Given the description of an element on the screen output the (x, y) to click on. 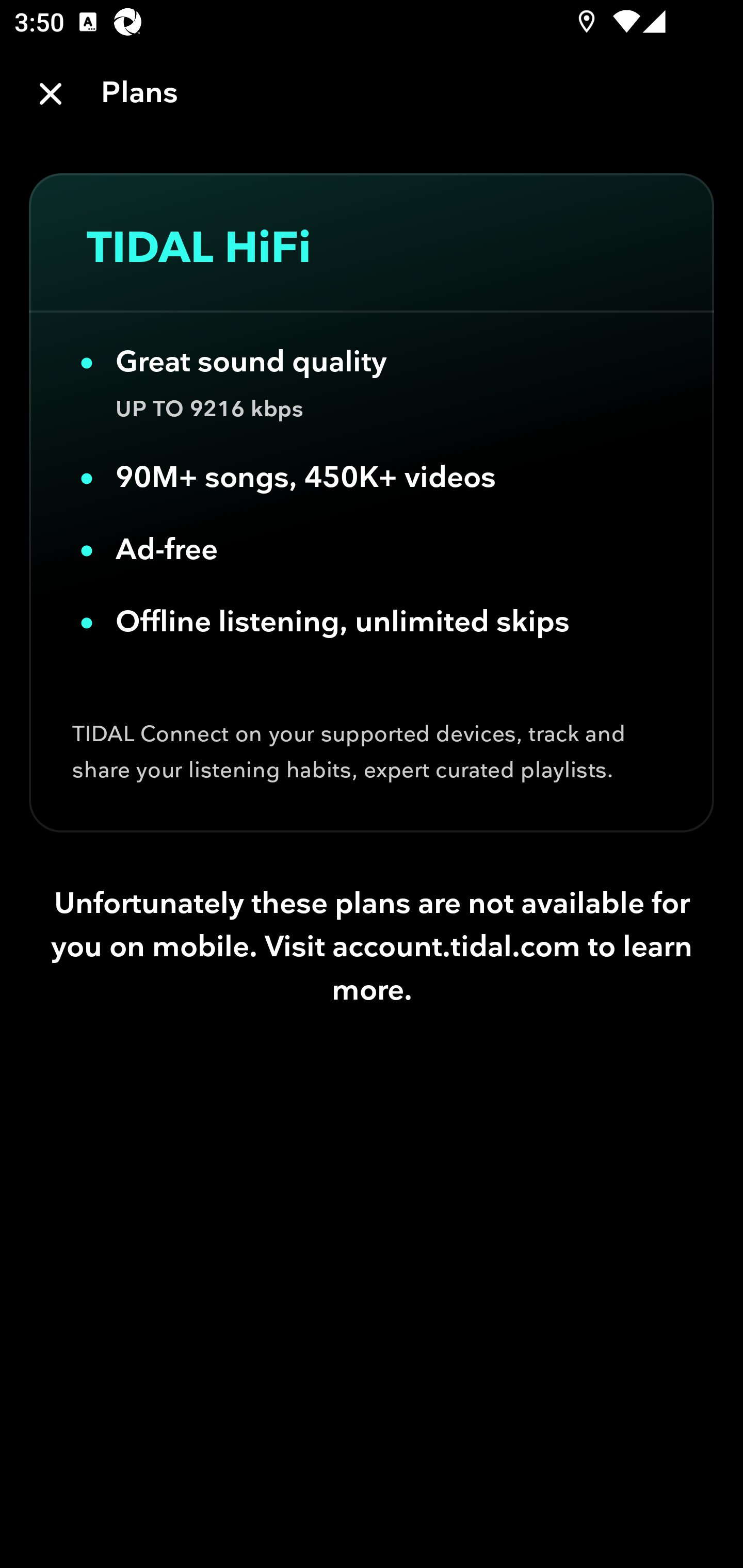
Close (50, 93)
